Given the description of an element on the screen output the (x, y) to click on. 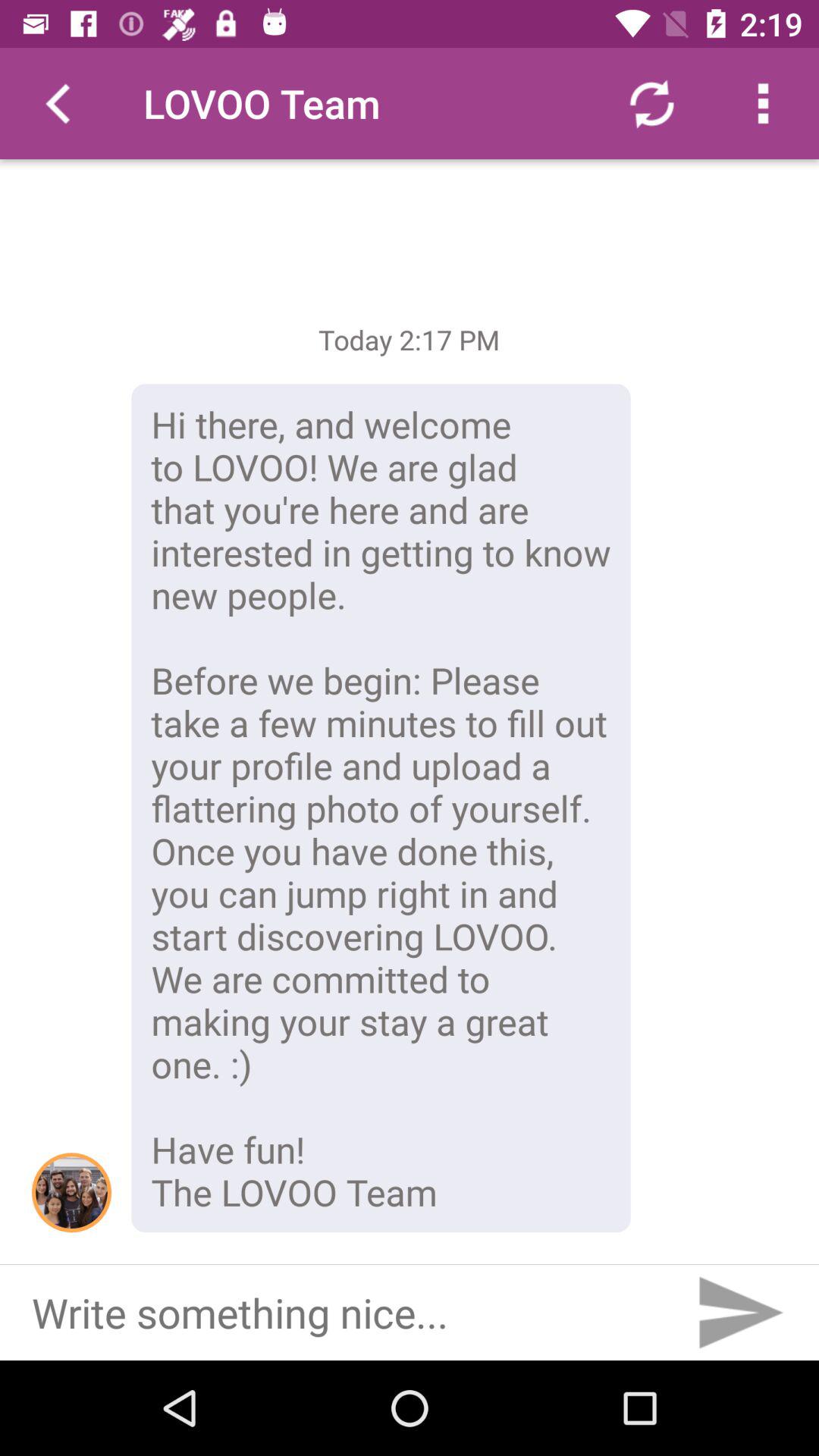
view friend (71, 1192)
